Given the description of an element on the screen output the (x, y) to click on. 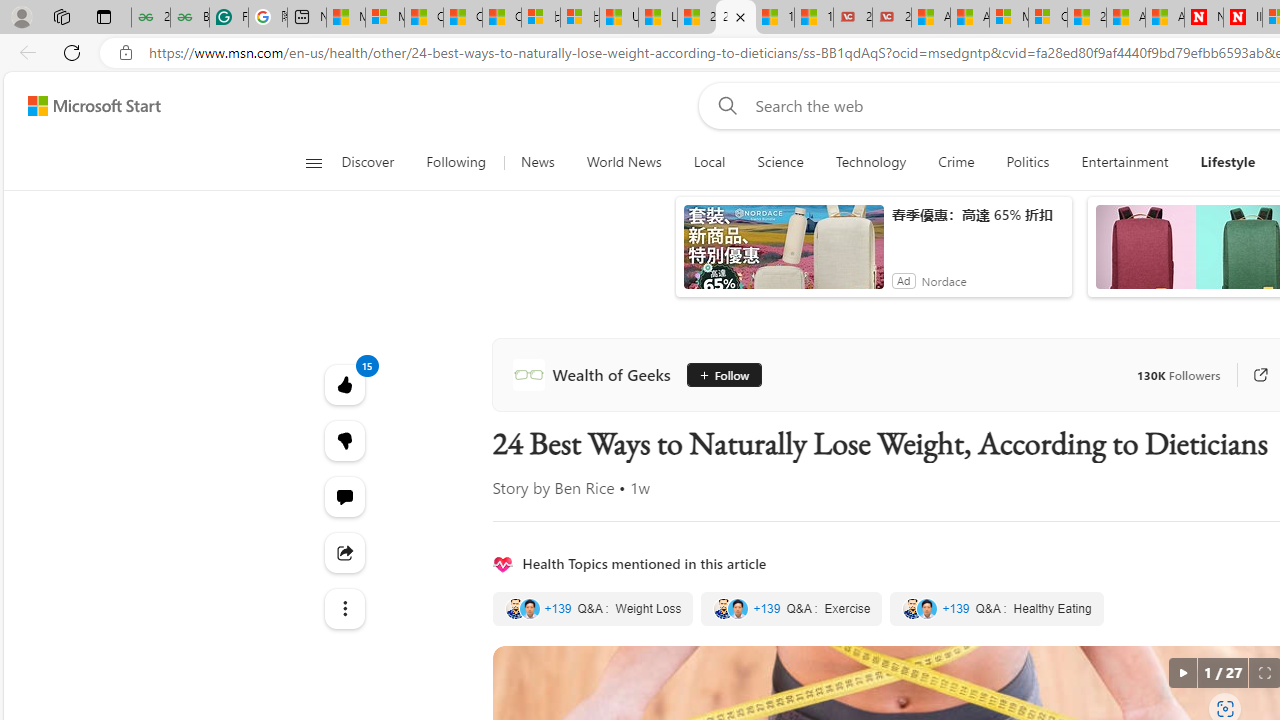
Cloud Computing Services | Microsoft Azure (1048, 17)
anim-content (783, 255)
Wealth of Geeks (595, 374)
15 Like (343, 384)
Follow (722, 374)
Healthy eating (996, 608)
